Given the description of an element on the screen output the (x, y) to click on. 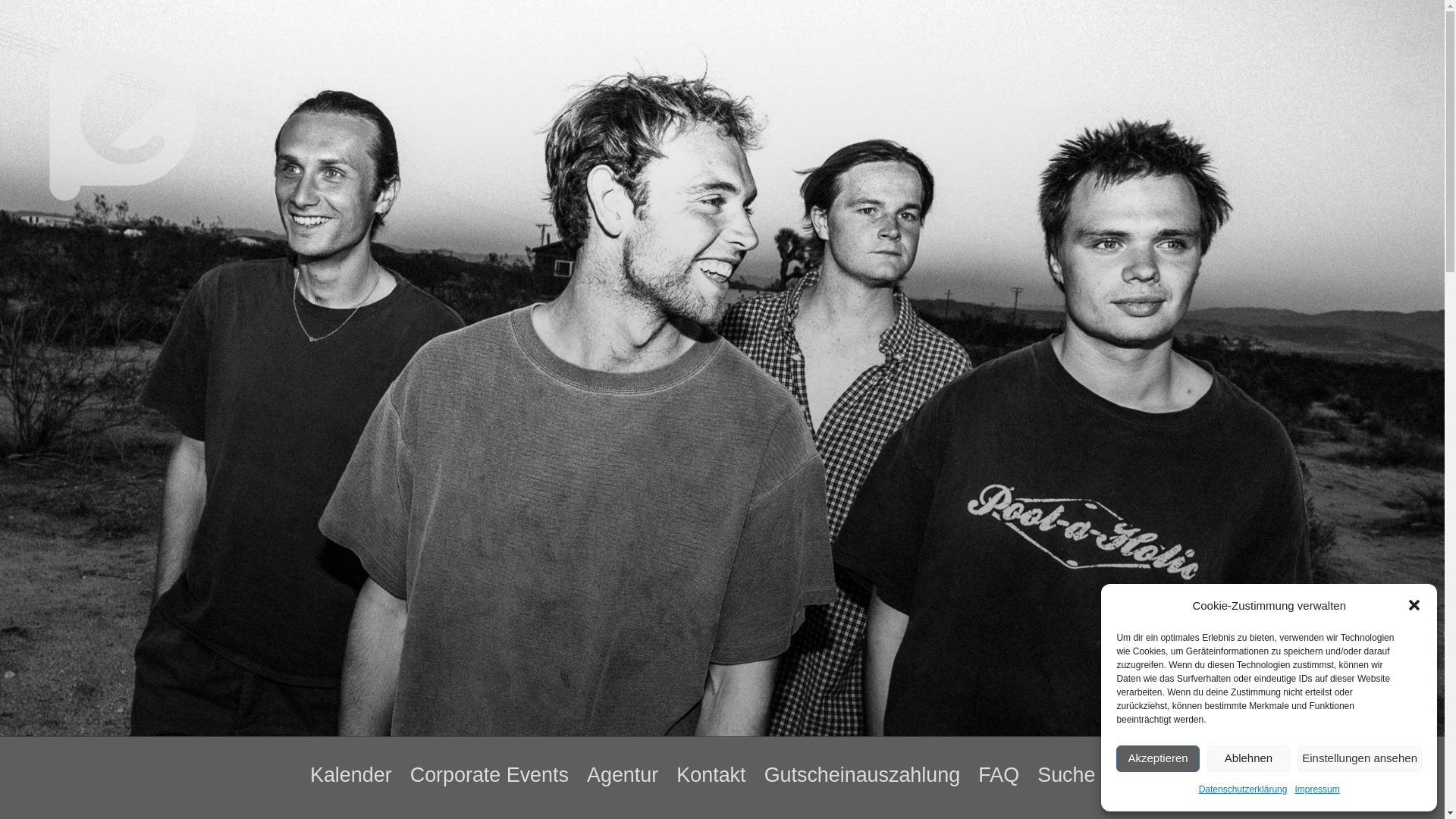
Impressum (1316, 789)
fb (1150, 773)
Einstellungen ansehen (1359, 758)
Gutscheinauszahlung (861, 775)
Corporate Events (489, 775)
Ig (1177, 774)
Akzeptieren (1157, 758)
Kalender (350, 775)
Suche (1066, 775)
Agentur (622, 775)
Ablehnen (1248, 758)
FAQ (998, 775)
Kontakt (710, 775)
